Given the description of an element on the screen output the (x, y) to click on. 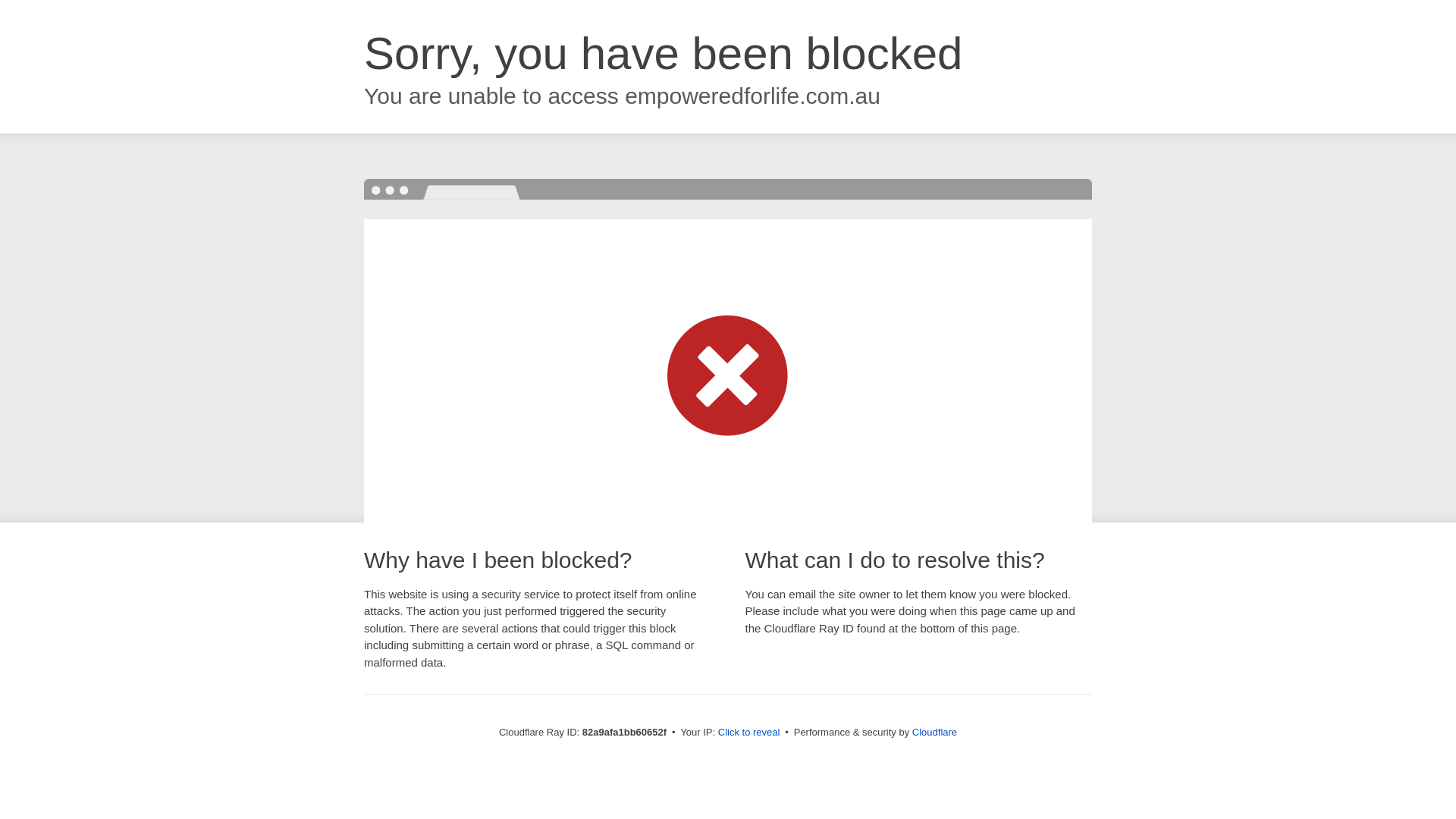
Cloudflare Element type: text (934, 731)
Click to reveal Element type: text (749, 732)
